Given the description of an element on the screen output the (x, y) to click on. 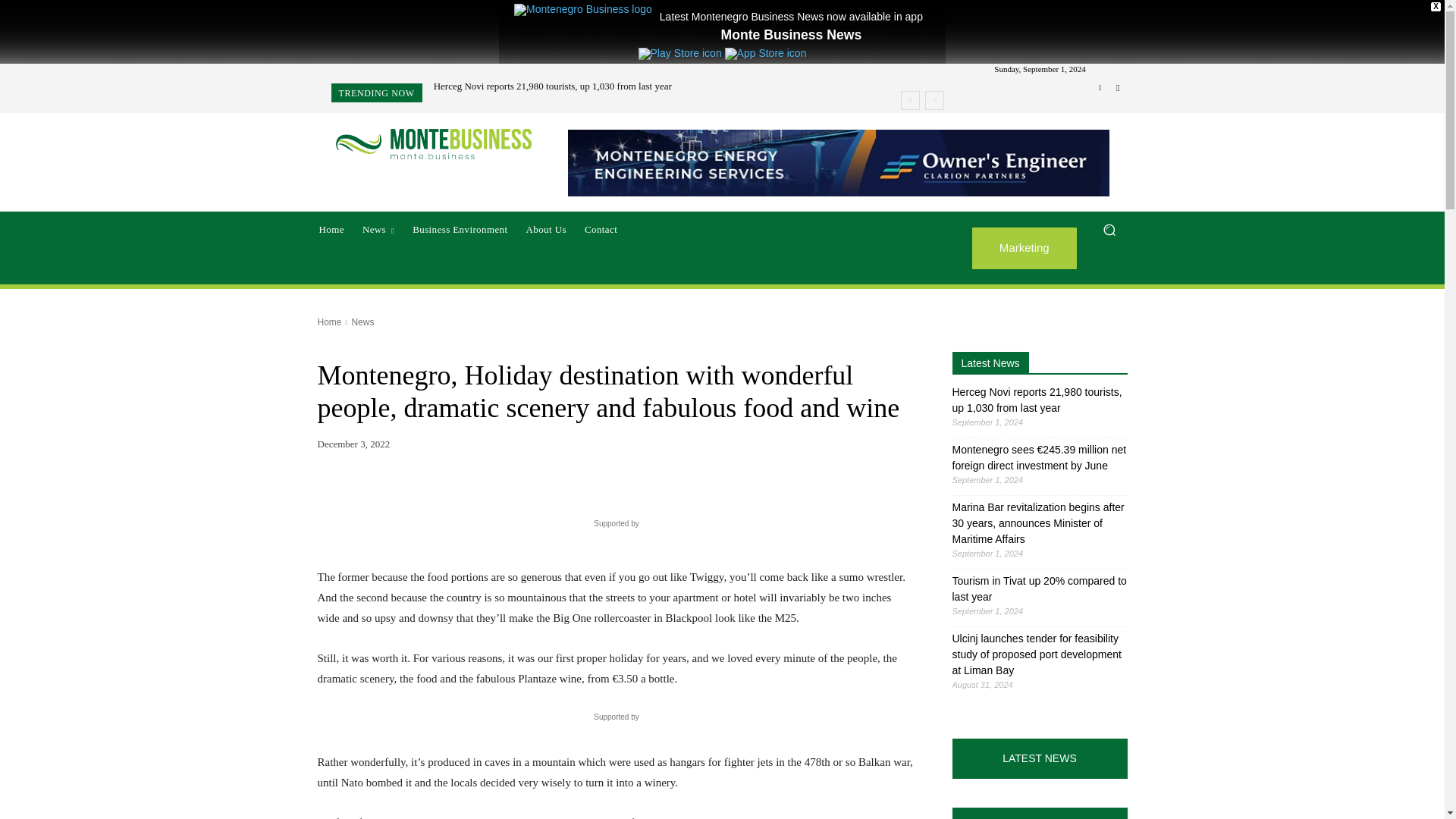
Business Environment (459, 229)
Herceg Novi reports 21,980 tourists, up 1,030 from last year (552, 85)
Marketing (1024, 248)
Home (330, 229)
Contact (600, 229)
Herceg Novi reports 21,980 tourists, up 1,030 from last year (552, 85)
Linkedin (1099, 87)
News (378, 229)
Twitter (1117, 87)
Marketing (1024, 248)
